Given the description of an element on the screen output the (x, y) to click on. 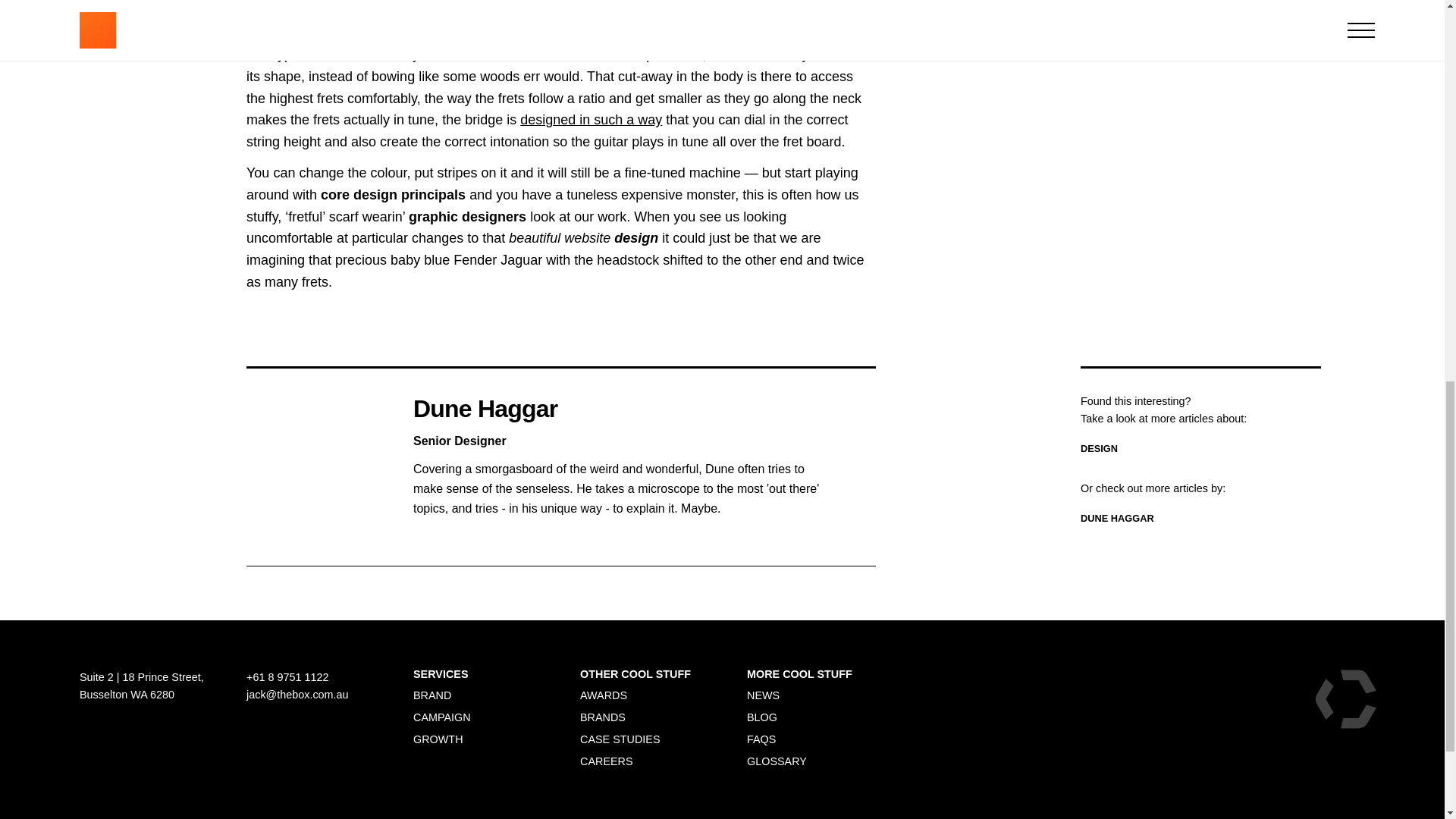
2007 (1200, 8)
designed in such a way (590, 119)
DUNE HAGGAR (1117, 518)
GROWTH (437, 739)
BRAND (431, 694)
CAMPAIGN (441, 717)
DESIGN (1099, 448)
AWARDS (603, 694)
